Given the description of an element on the screen output the (x, y) to click on. 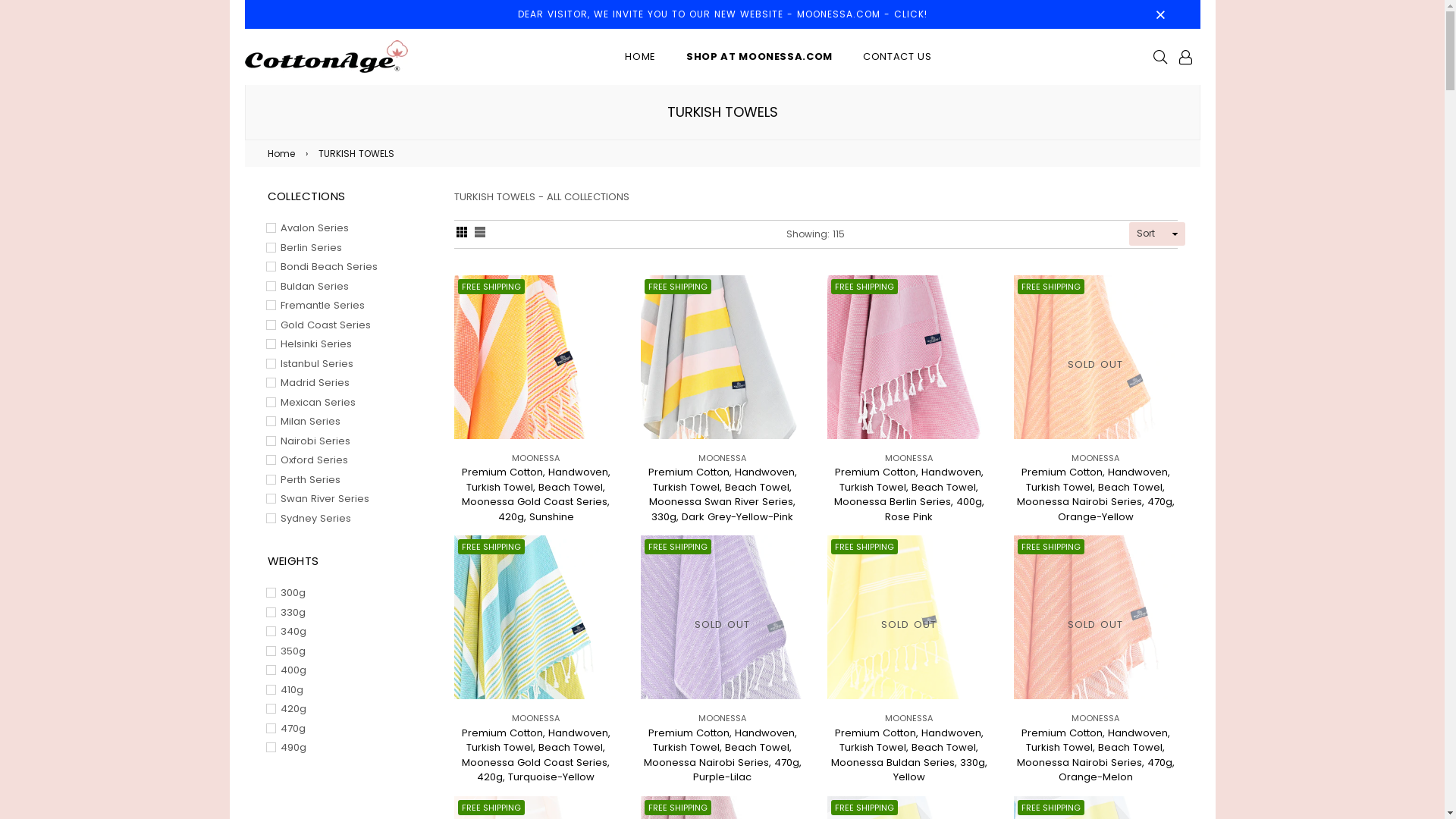
MOONESSA Element type: text (722, 457)
MOONESSA Element type: text (1095, 457)
MOONESSA Element type: text (535, 718)
FREE SHIPPING
SOLD OUT Element type: text (1094, 357)
FREE SHIPPING Element type: text (535, 357)
FREE SHIPPING
SOLD OUT Element type: text (908, 617)
SHOP AT MOONESSA.COM Element type: text (759, 55)
FREE SHIPPING
SOLD OUT Element type: text (721, 617)
MOONESSA Element type: text (722, 718)
Grid View Element type: hover (460, 233)
FREE SHIPPING Element type: text (535, 617)
Home Element type: text (282, 153)
FREE SHIPPING Element type: text (908, 357)
FREE SHIPPING Element type: text (721, 357)
Search Element type: text (1159, 55)
HOME Element type: text (640, 55)
MOONESSA Element type: text (535, 457)
CONTACT US Element type: text (897, 55)
FREE SHIPPING
SOLD OUT Element type: text (1094, 617)
MOONESSA Element type: text (908, 457)
MOONESSA Element type: text (908, 718)
List View Element type: hover (478, 233)
MOONESSA Element type: text (1095, 718)
